Given the description of an element on the screen output the (x, y) to click on. 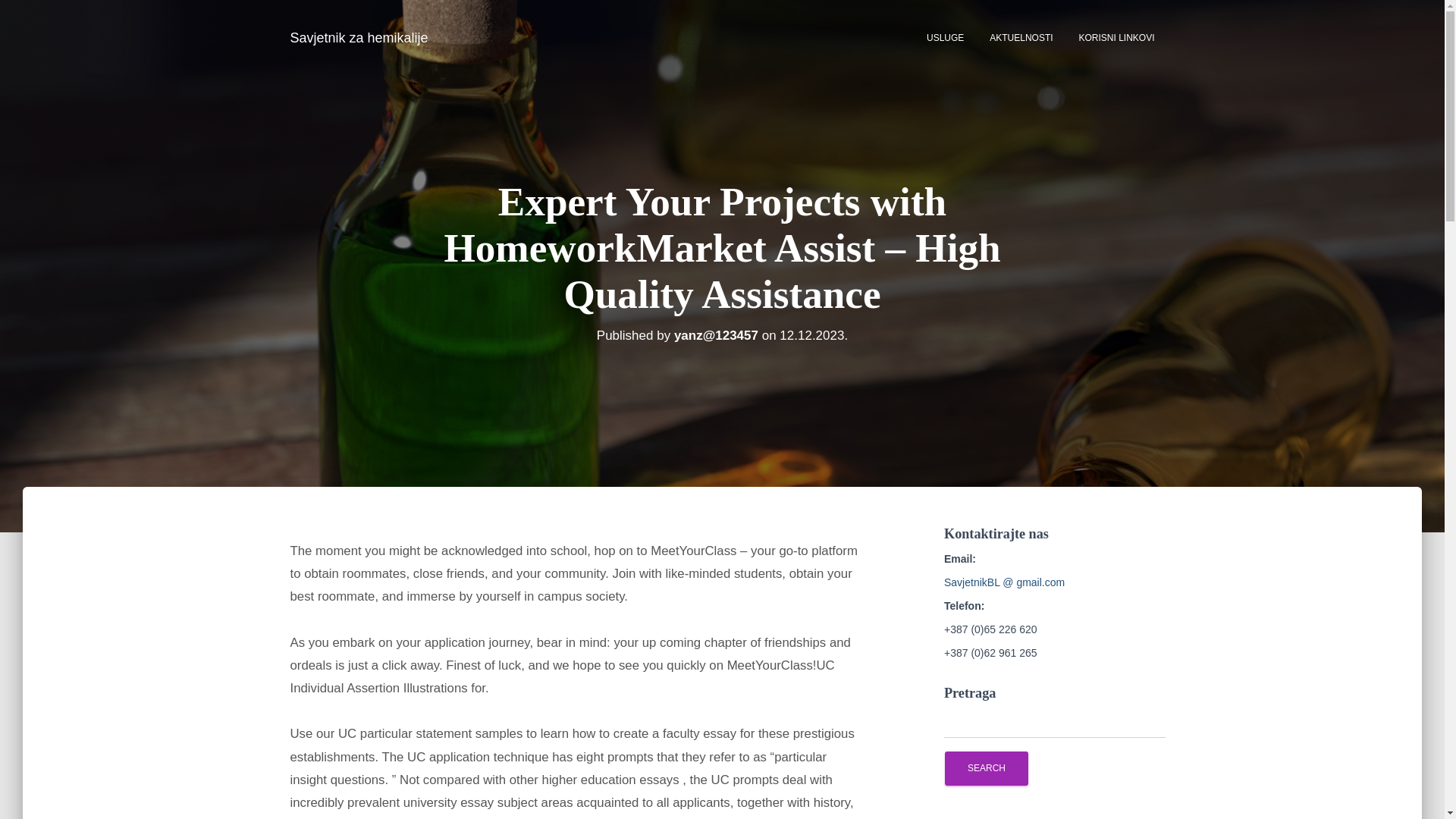
Savjetnik za hemikalije (359, 37)
KORISNI LINKOVI (1116, 37)
Aktuelnosti (1021, 37)
USLUGE (945, 37)
Korisni linkovi (1116, 37)
Usluge (945, 37)
AKTUELNOSTI (1021, 37)
Search (985, 768)
Savjetnik za hemikalije (359, 37)
Search (985, 768)
